Given the description of an element on the screen output the (x, y) to click on. 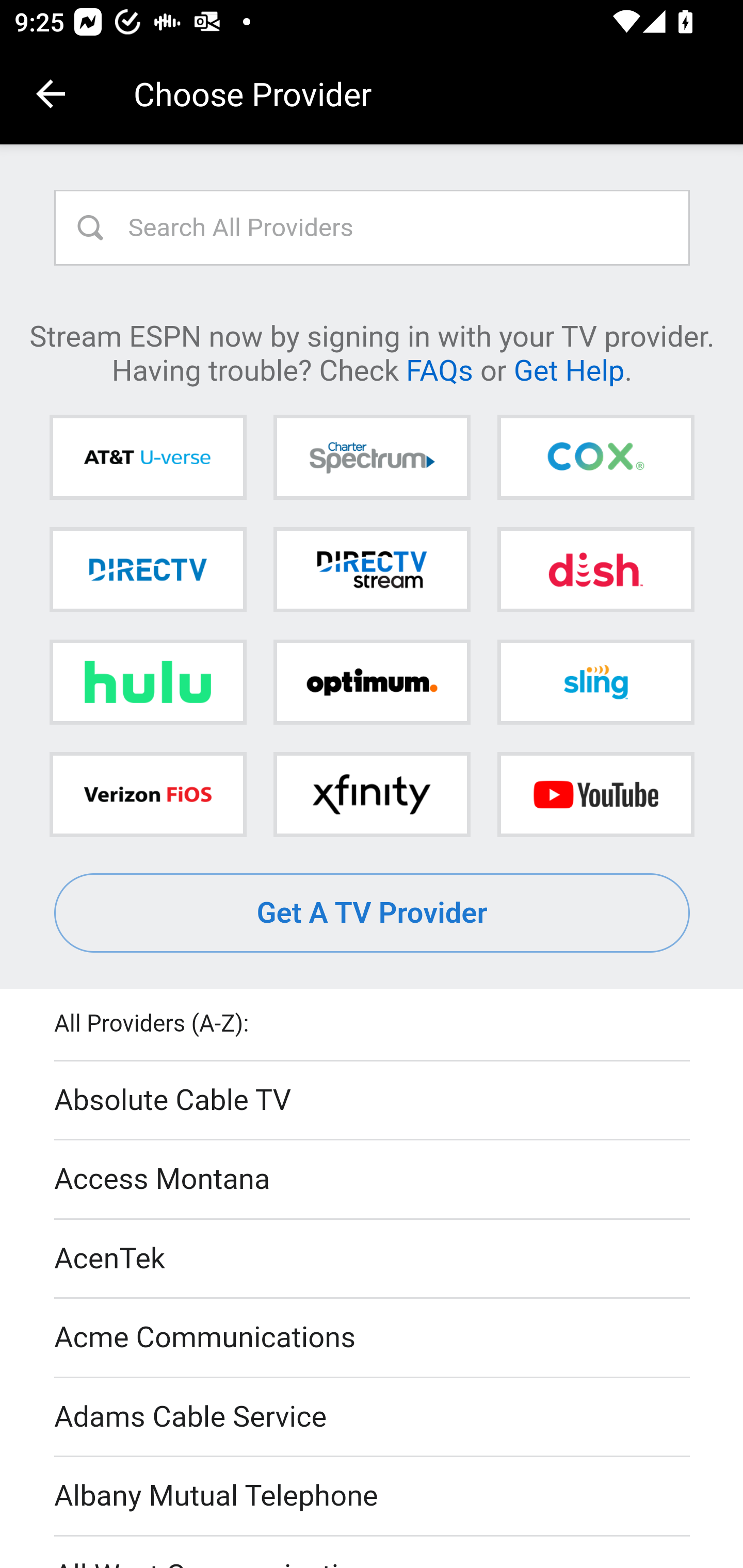
Navigate up (50, 93)
FAQs (438, 369)
Get Help (569, 369)
AT&T U-verse (147, 457)
Charter Spectrum (371, 457)
Cox (595, 457)
DIRECTV (147, 568)
DIRECTV STREAM (371, 568)
DISH (595, 568)
Hulu (147, 681)
Optimum (371, 681)
Sling TV (595, 681)
Verizon FiOS (147, 793)
Xfinity (371, 793)
YouTube TV (595, 793)
Get A TV Provider (372, 912)
Absolute Cable TV (372, 1100)
Access Montana (372, 1178)
AcenTek (372, 1258)
Acme Communications (372, 1338)
Adams Cable Service (372, 1417)
Albany Mutual Telephone (372, 1497)
